Given the description of an element on the screen output the (x, y) to click on. 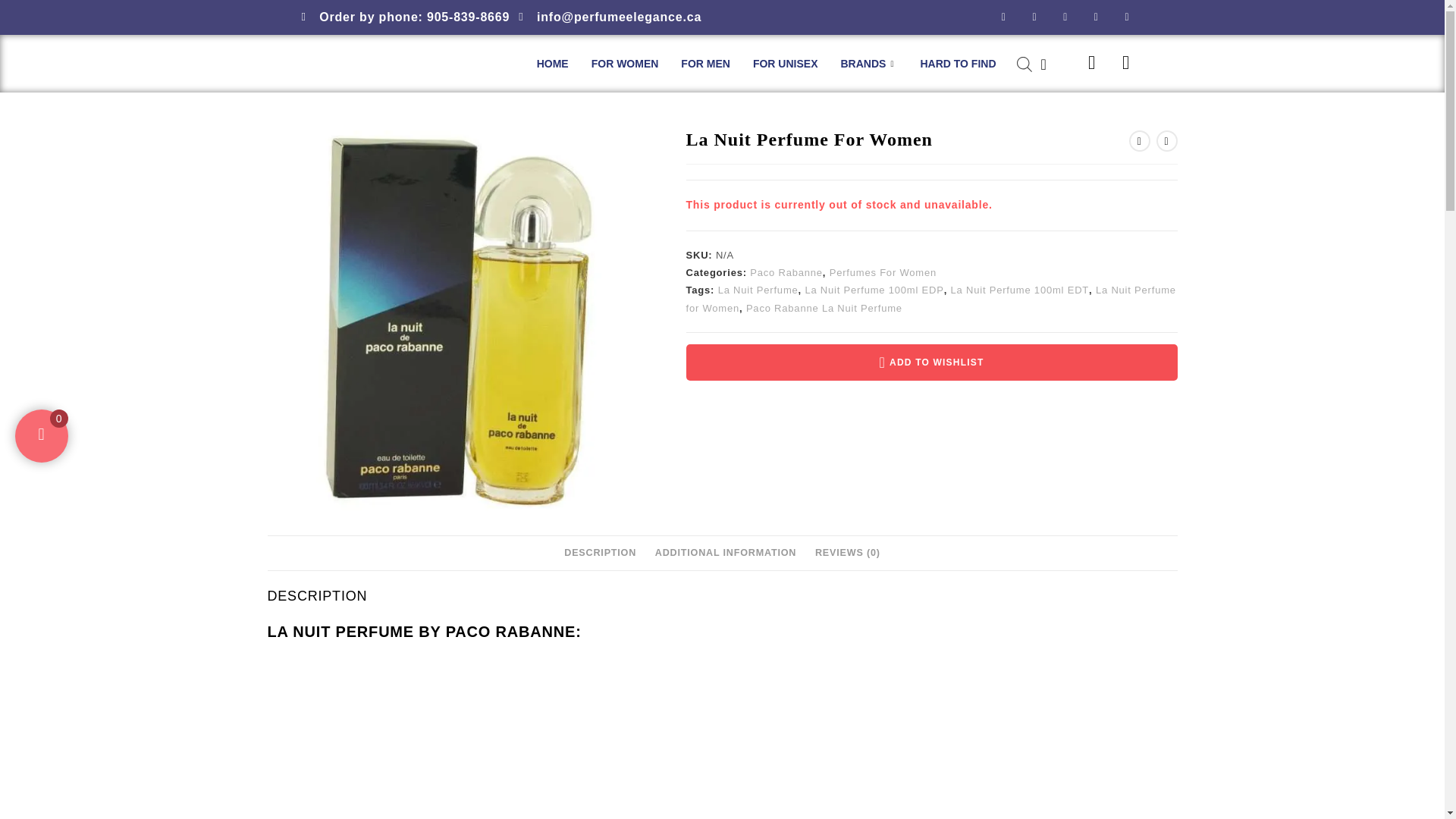
FOR MEN (705, 63)
BRANDS (868, 63)
FOR WOMEN (624, 63)
Order by phone: 905-839-8669 (406, 17)
HARD TO FIND (957, 63)
HOME (552, 63)
FOR UNISEX (785, 63)
